Given the description of an element on the screen output the (x, y) to click on. 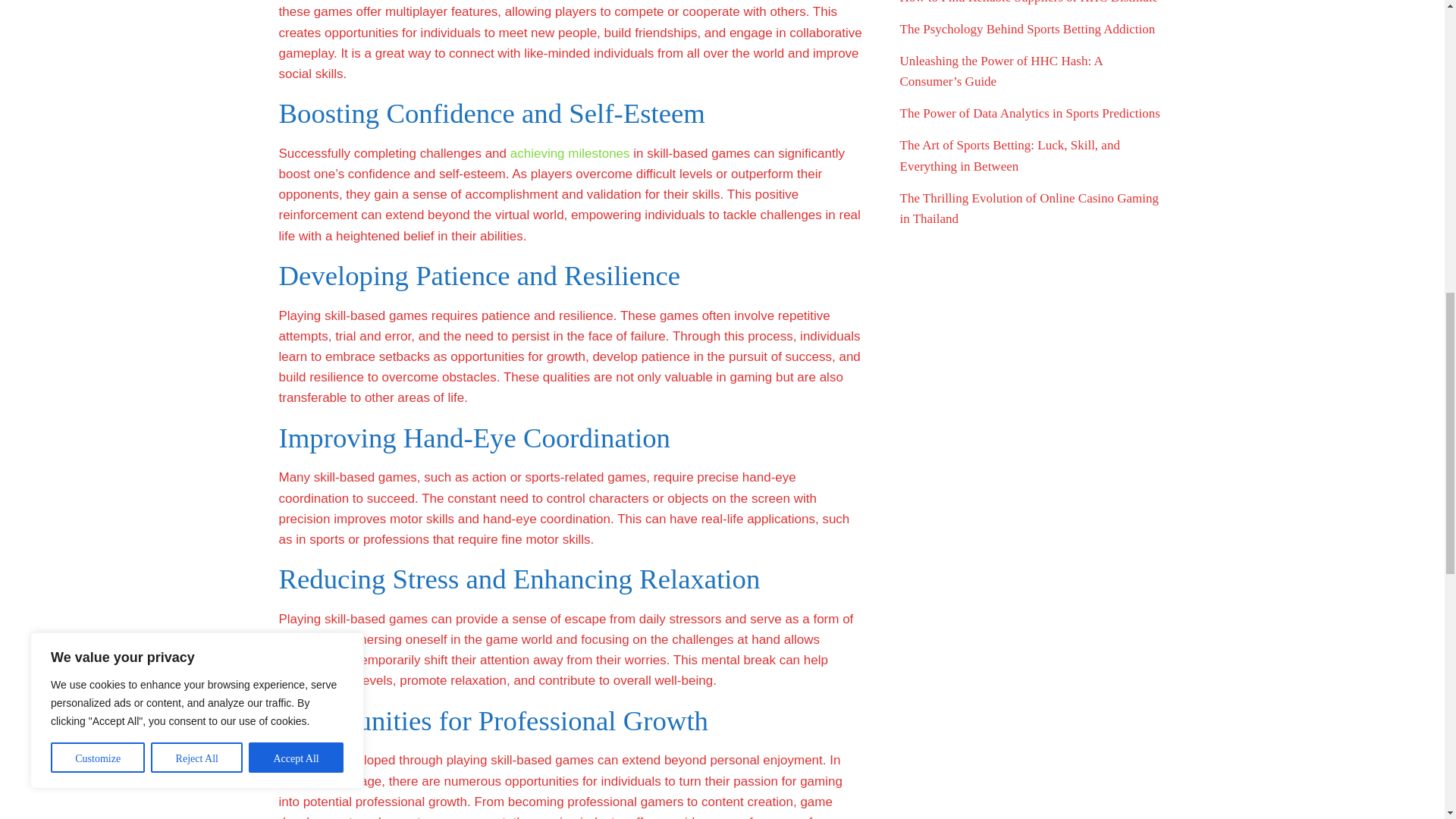
How to Find Reliable Suppliers of HHC Distillate (1028, 2)
achieving milestones (570, 153)
